Given the description of an element on the screen output the (x, y) to click on. 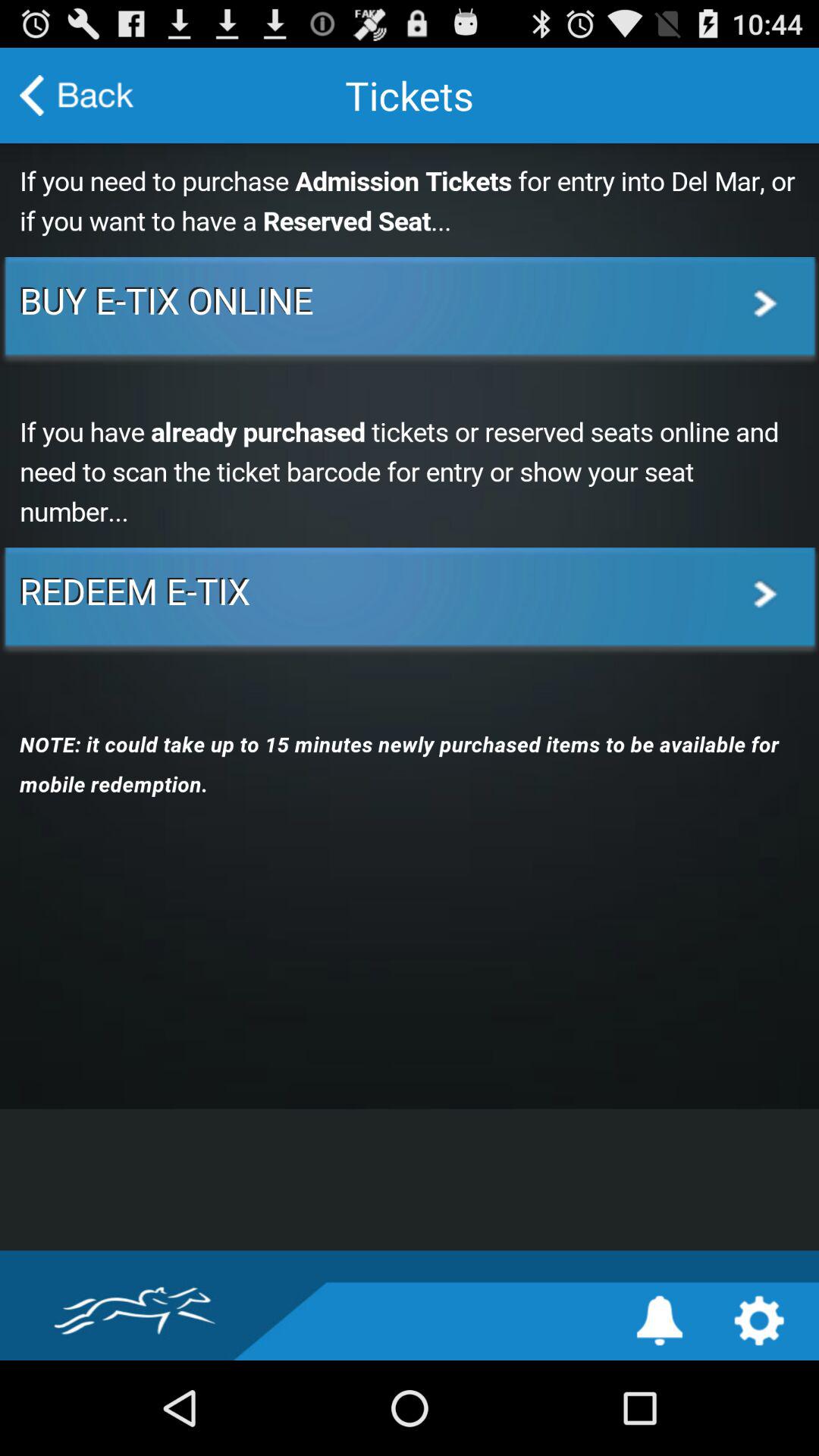
go back (76, 95)
